Given the description of an element on the screen output the (x, y) to click on. 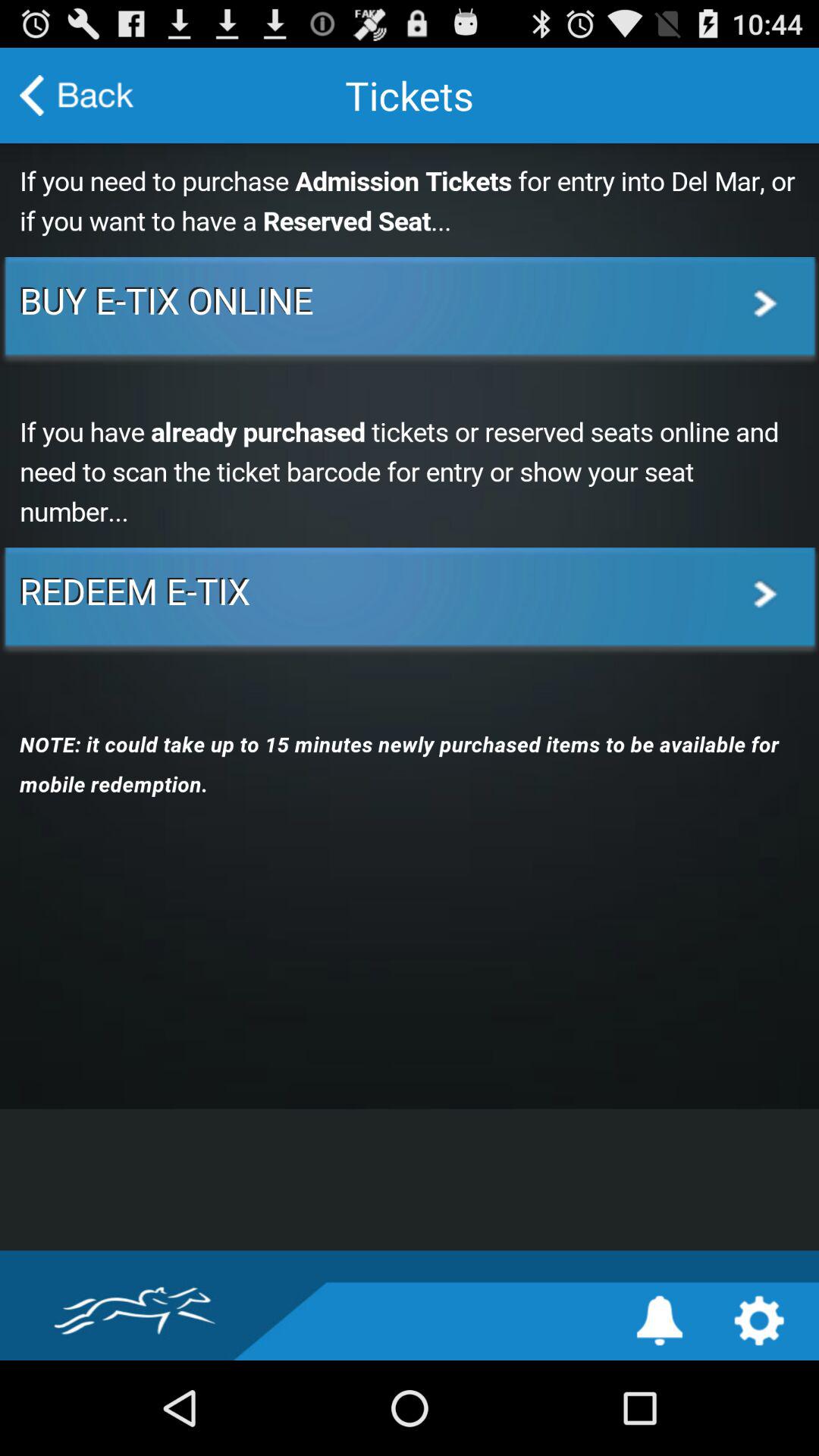
go back (76, 95)
